Given the description of an element on the screen output the (x, y) to click on. 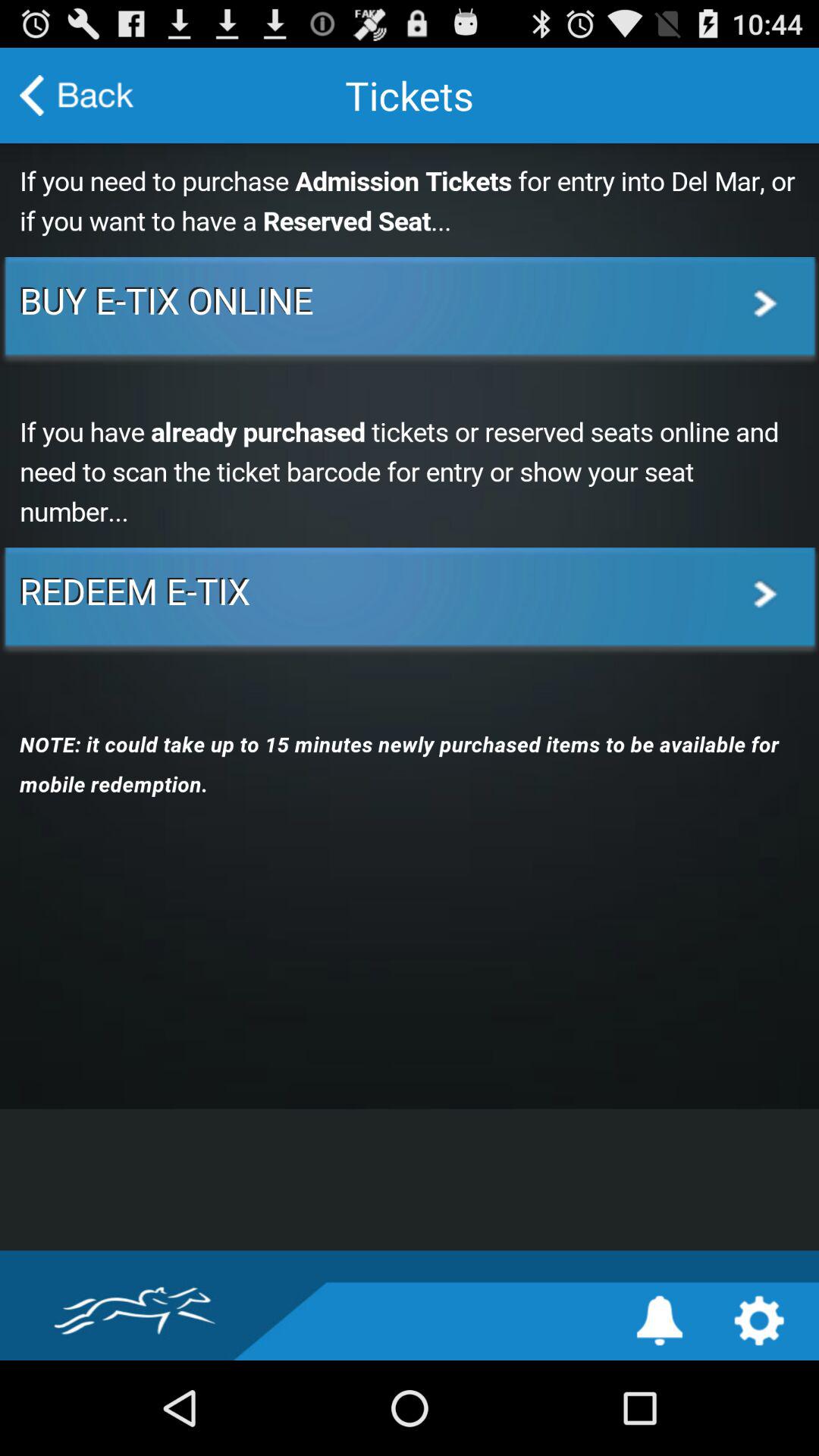
go back (76, 95)
